Given the description of an element on the screen output the (x, y) to click on. 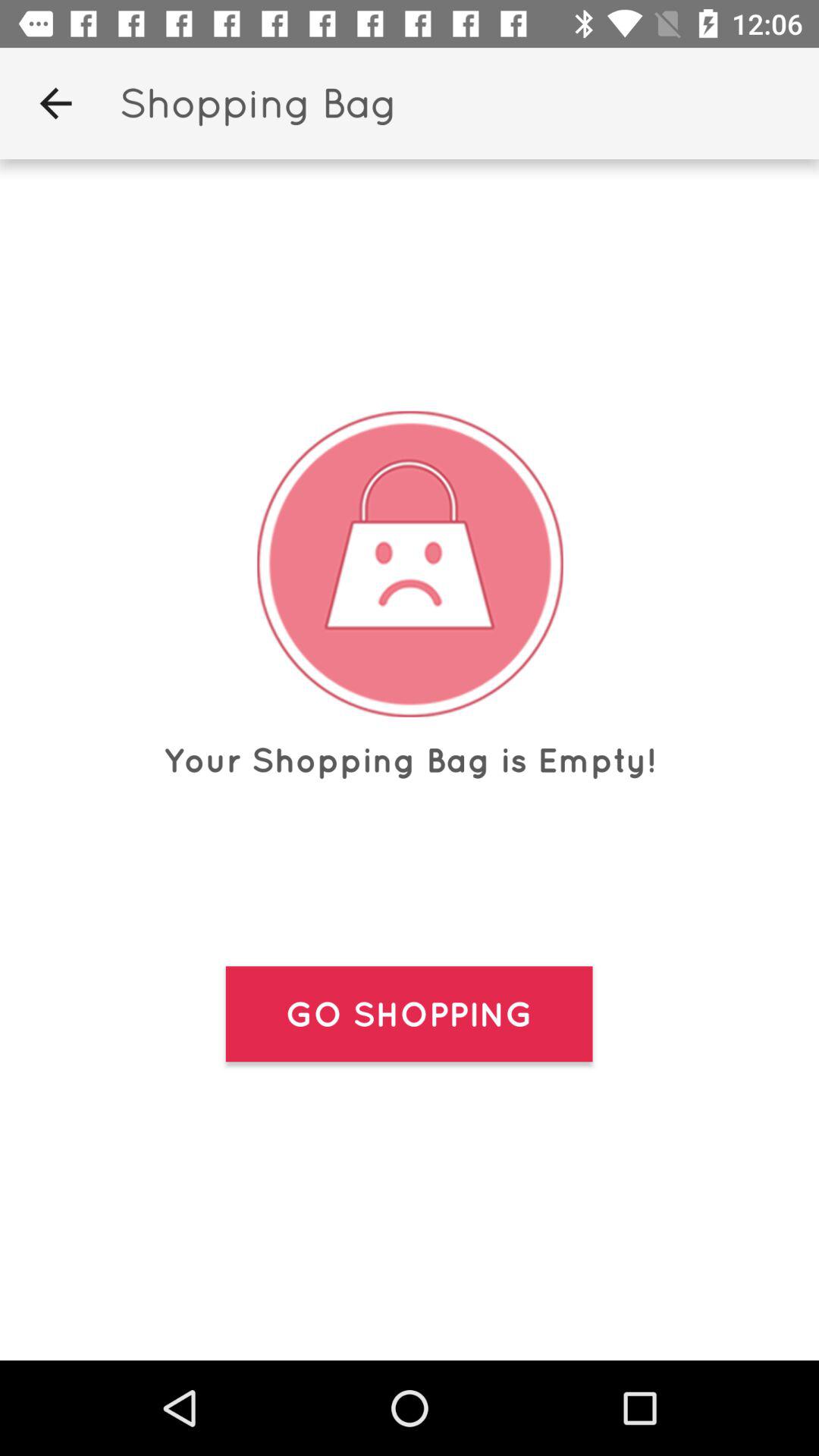
tap icon below your shopping bag (408, 1013)
